Given the description of an element on the screen output the (x, y) to click on. 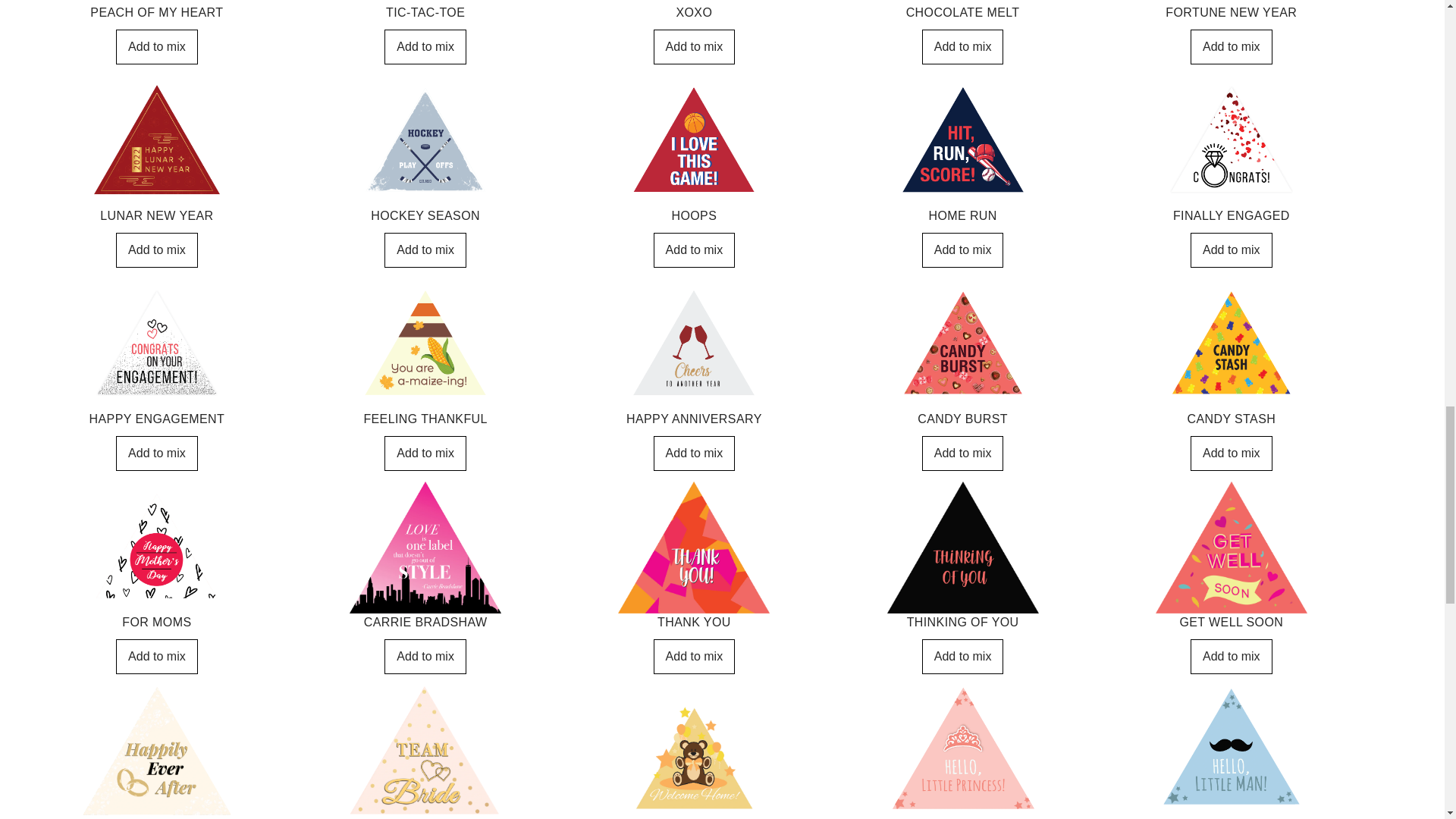
Finally Engaged (1231, 249)
Hoops (694, 249)
Happy Anniversary (694, 452)
Chocolate Melt (962, 46)
PEACH OF MY HEART (157, 46)
Lunar New Year (157, 249)
XOXO (694, 46)
Happy Engagement (157, 452)
Fortune New Year (1231, 46)
TIC-TAC-TOE (424, 46)
Hockey Season (424, 249)
Home Run (962, 249)
Feeling Thankful (424, 452)
